Given the description of an element on the screen output the (x, y) to click on. 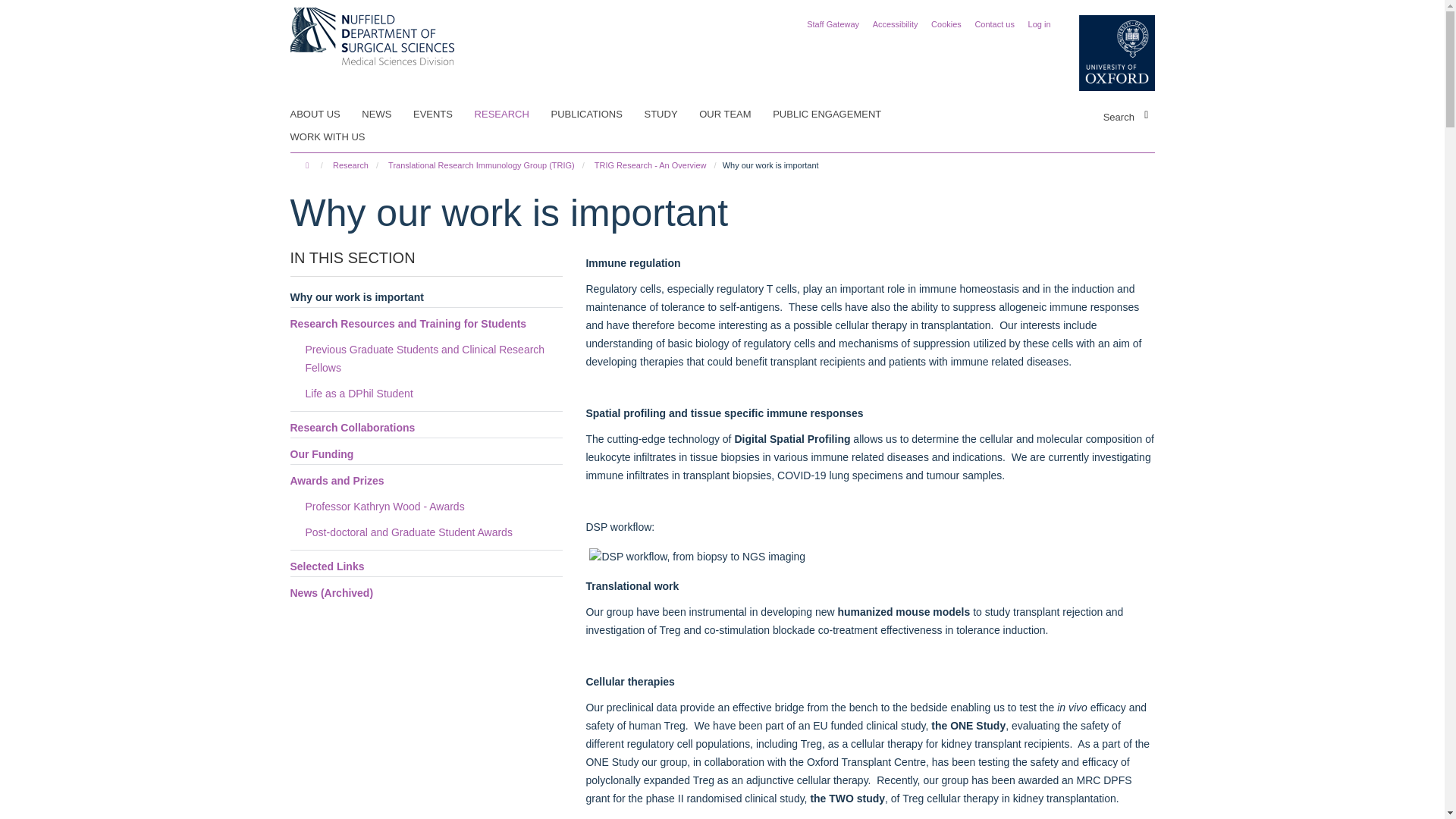
Why our work is important (425, 298)
Accessibility (895, 23)
Contact us (994, 23)
Nuffield Department of Surgical Sciences (370, 34)
STUDY (671, 114)
EVENTS (442, 114)
Log in (1039, 23)
PUBLIC ENGAGEMENT (836, 114)
Staff Gateway (832, 23)
NEWS (385, 114)
